Given the description of an element on the screen output the (x, y) to click on. 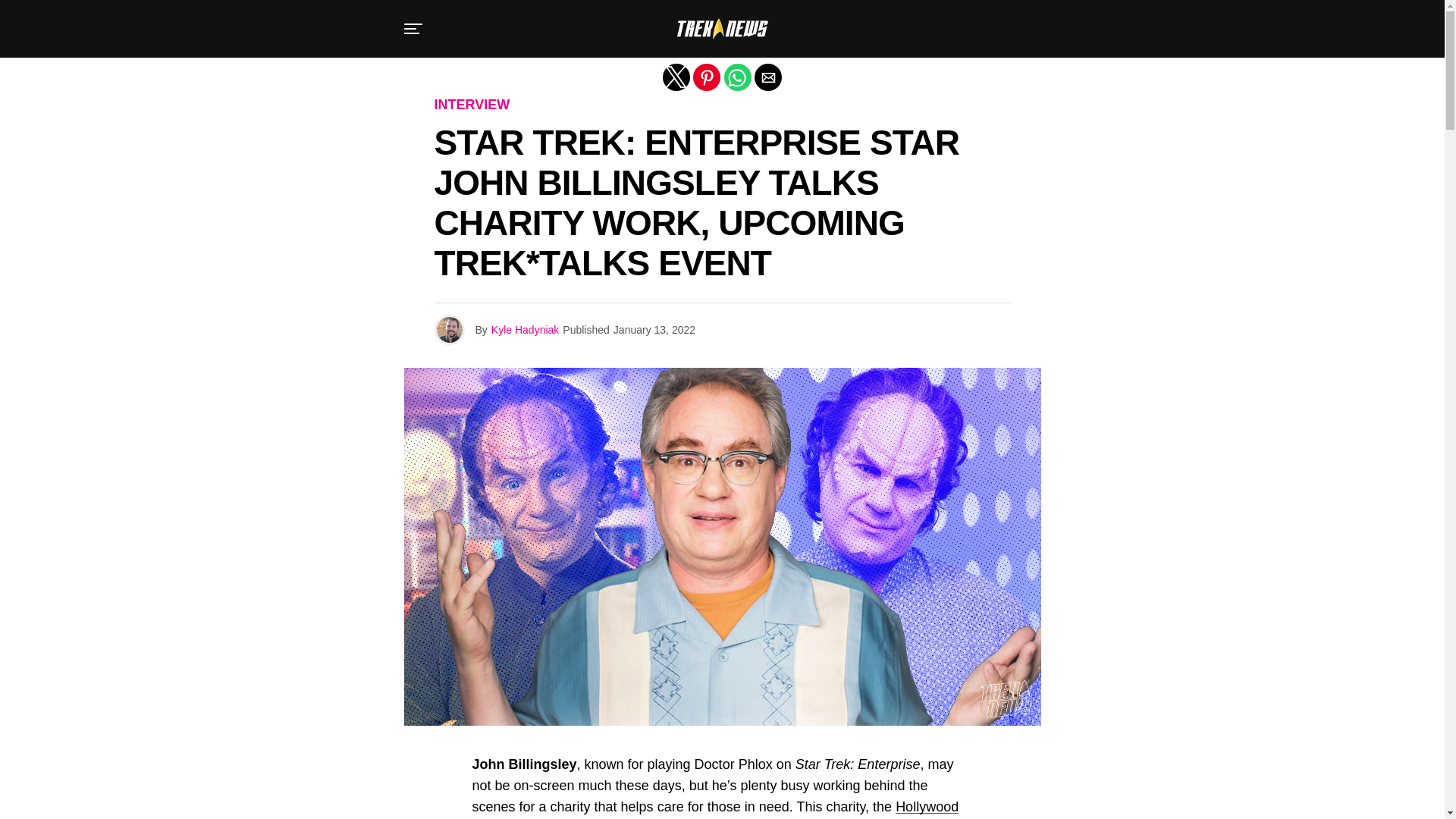
Hollywood Food Coalition (714, 809)
Posts by Kyle Hadyniak (525, 329)
Kyle Hadyniak (525, 329)
INTERVIEW (471, 104)
